Given the description of an element on the screen output the (x, y) to click on. 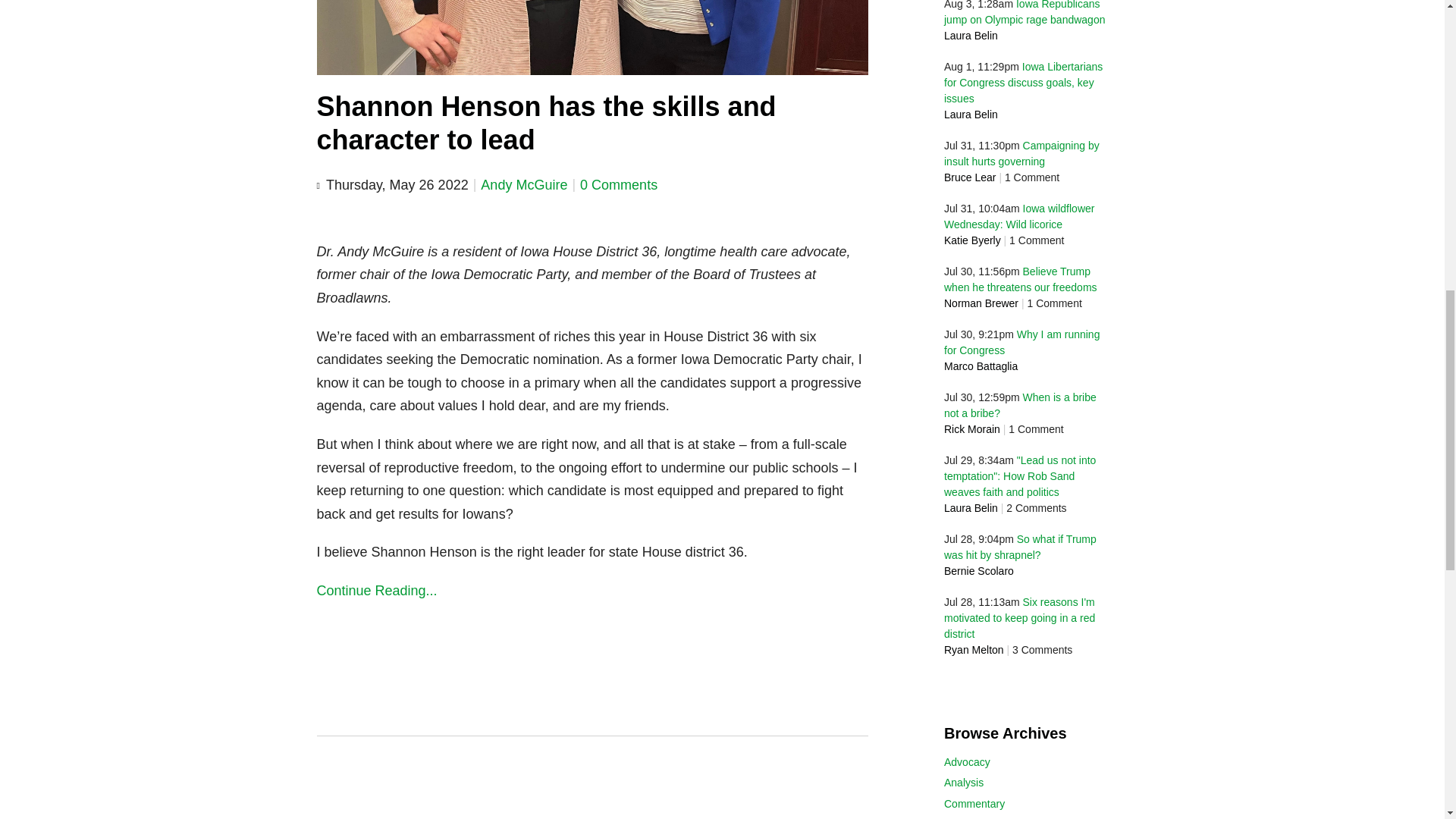
Iowa Republicans jump on Olympic rage bandwagon (1024, 12)
Norman Brewer (980, 303)
Iowa wildflower Wednesday: Wild licorice (1018, 216)
Laura Belin (970, 35)
Why I am running for Congress (1021, 342)
Katie Byerly (972, 240)
Laura Belin (970, 508)
0 Comments (618, 184)
comments (618, 184)
Marco Battaglia (980, 366)
Believe Trump when he threatens our freedoms (1020, 279)
Campaigning by insult hurts governing (1021, 153)
Continue Reading... (593, 590)
Bruce Lear (969, 177)
So what if Trump was hit by shrapnel? (1019, 547)
